Given the description of an element on the screen output the (x, y) to click on. 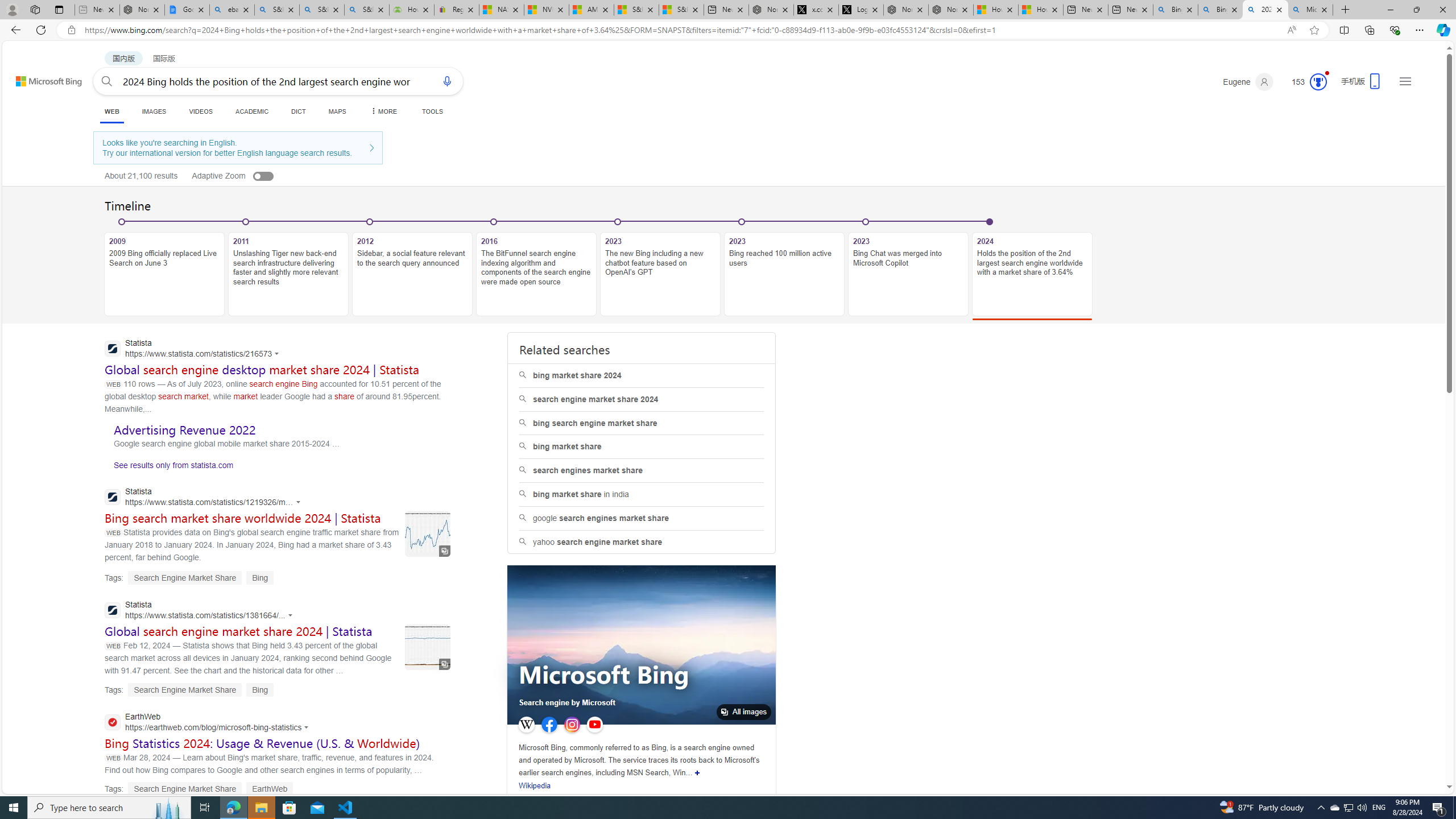
Advertising Revenue 2022 (184, 429)
ACADEMIC (252, 111)
All images (641, 644)
Settings and quick links (1404, 80)
Bing search market share worldwide 2024 | Statista (242, 518)
YouTube (594, 724)
